Given the description of an element on the screen output the (x, y) to click on. 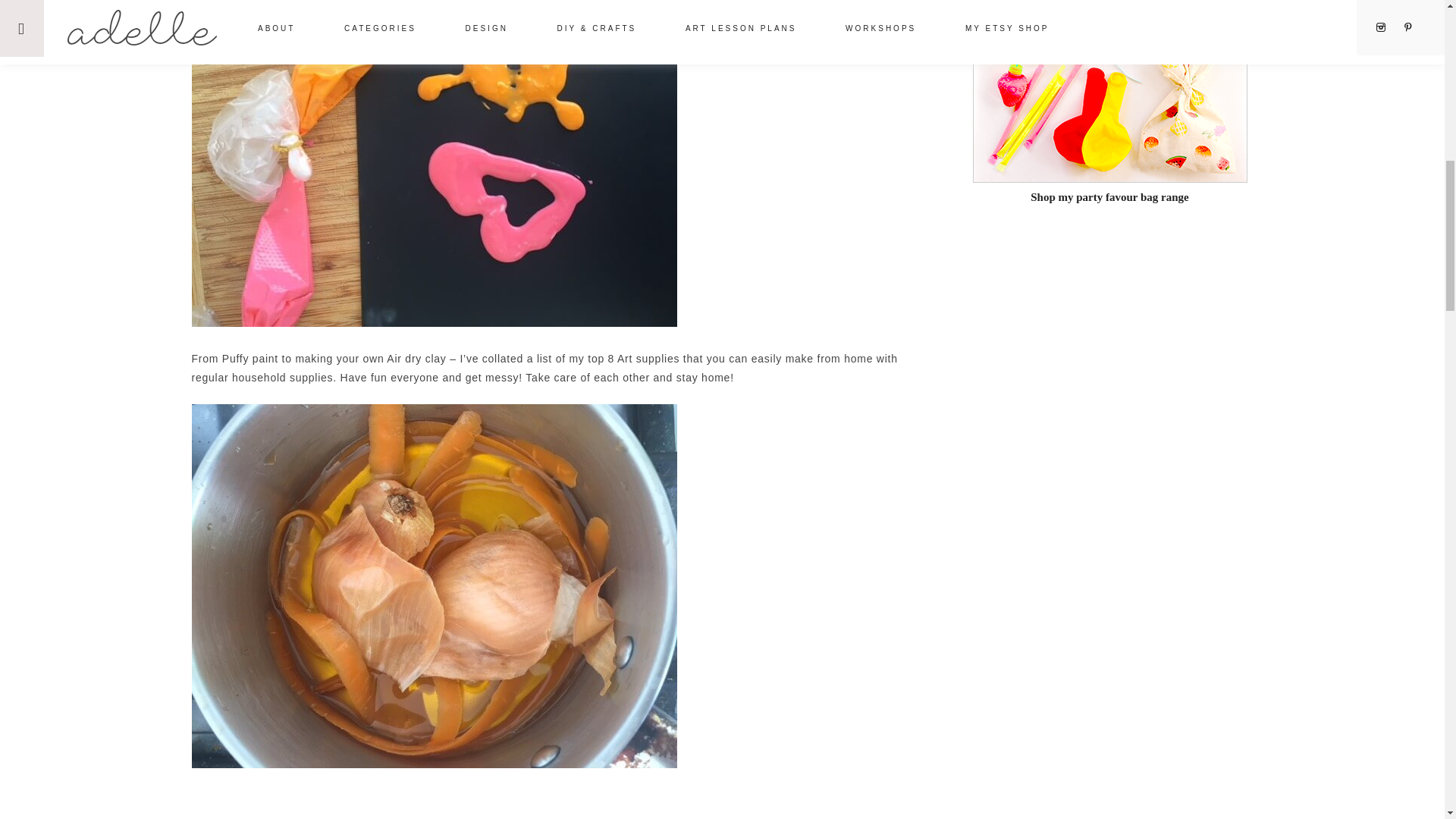
Shop my party favour bag range (1109, 189)
